Given the description of an element on the screen output the (x, y) to click on. 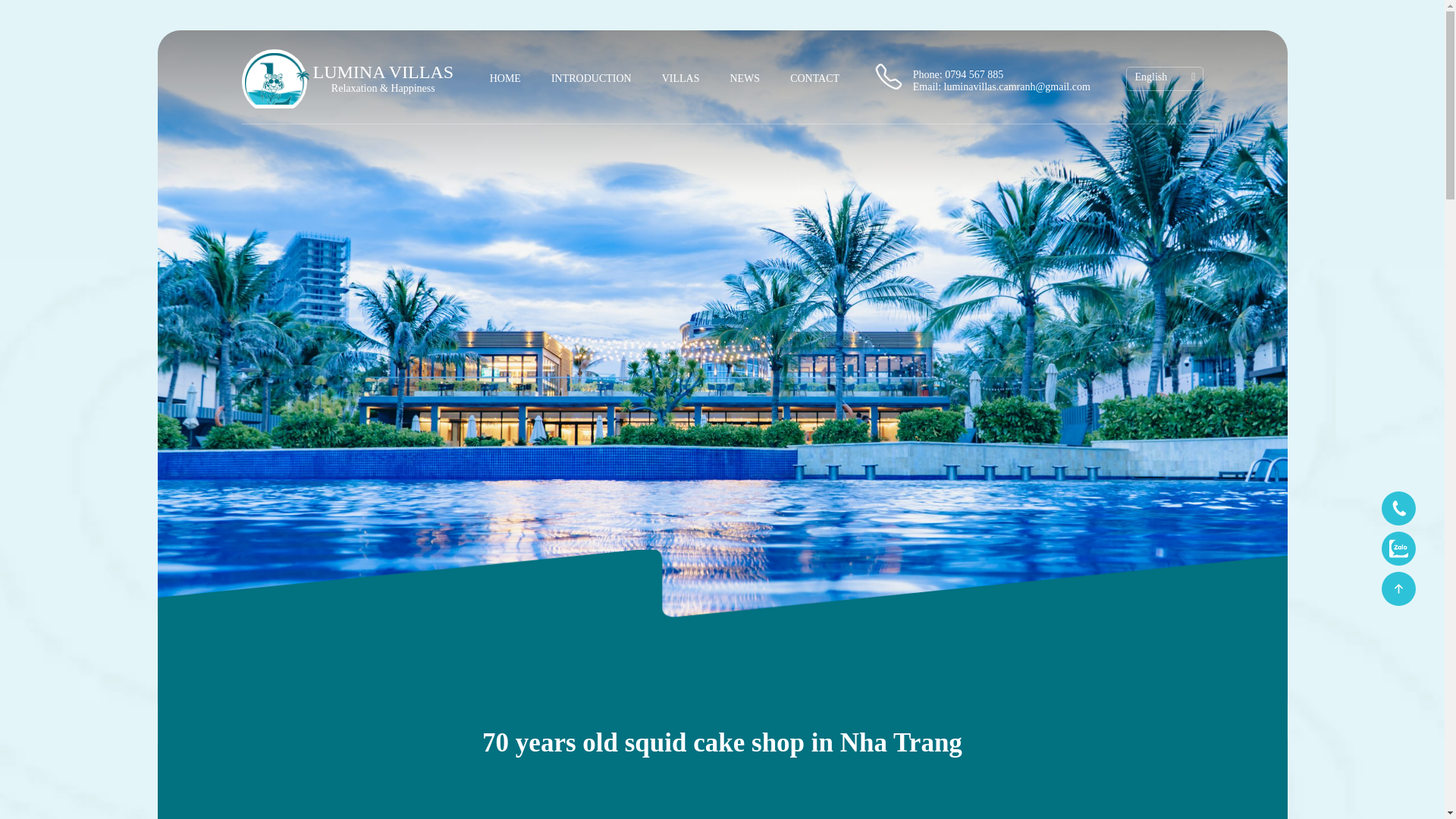
CONTACT (815, 78)
NEWS (744, 78)
English (1150, 76)
HOME (505, 78)
VILLAS (681, 78)
0794 567 885 (973, 74)
INTRODUCTION (591, 78)
